Given the description of an element on the screen output the (x, y) to click on. 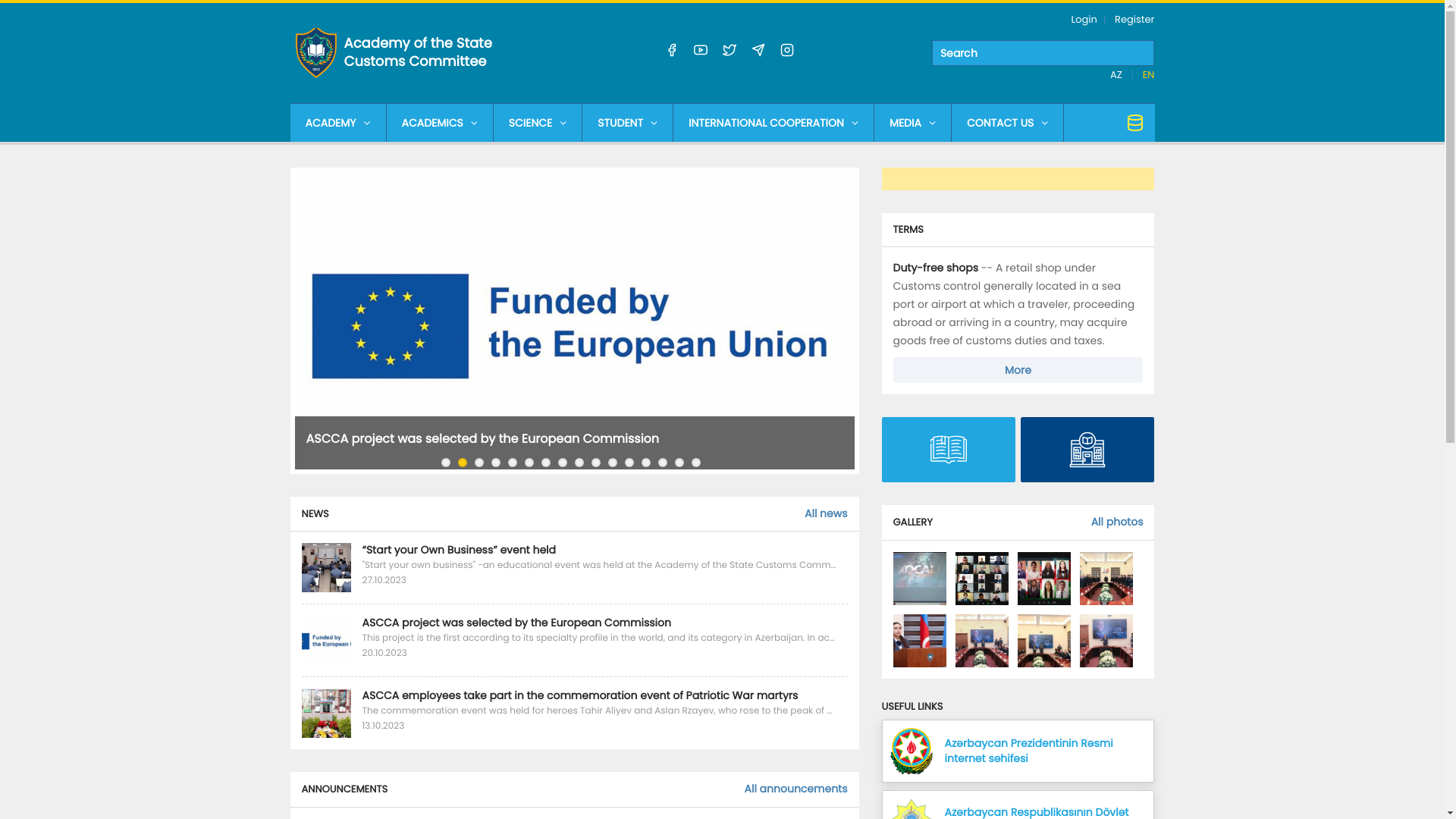
All news Element type: text (825, 512)
CONTACT US Element type: text (1007, 122)
INTERNATIONAL COOPERATION Element type: text (773, 122)
Register Element type: text (1134, 19)
ASCCA project was selected by the European Commission Element type: text (482, 438)
Academy of the State Customs Committee Element type: text (425, 52)
ACADEMY Element type: text (337, 122)
All announcements Element type: text (795, 788)
ACADEMICS Element type: text (439, 122)
search Element type: hover (1042, 52)
All photos Element type: text (1117, 521)
More Element type: text (1018, 369)
SCIENCE Element type: text (537, 122)
MEDIA Element type: text (912, 122)
EN Element type: text (1148, 74)
AZ Element type: text (1117, 74)
STUDENT Element type: text (627, 122)
Login Element type: text (1084, 19)
